Given the description of an element on the screen output the (x, y) to click on. 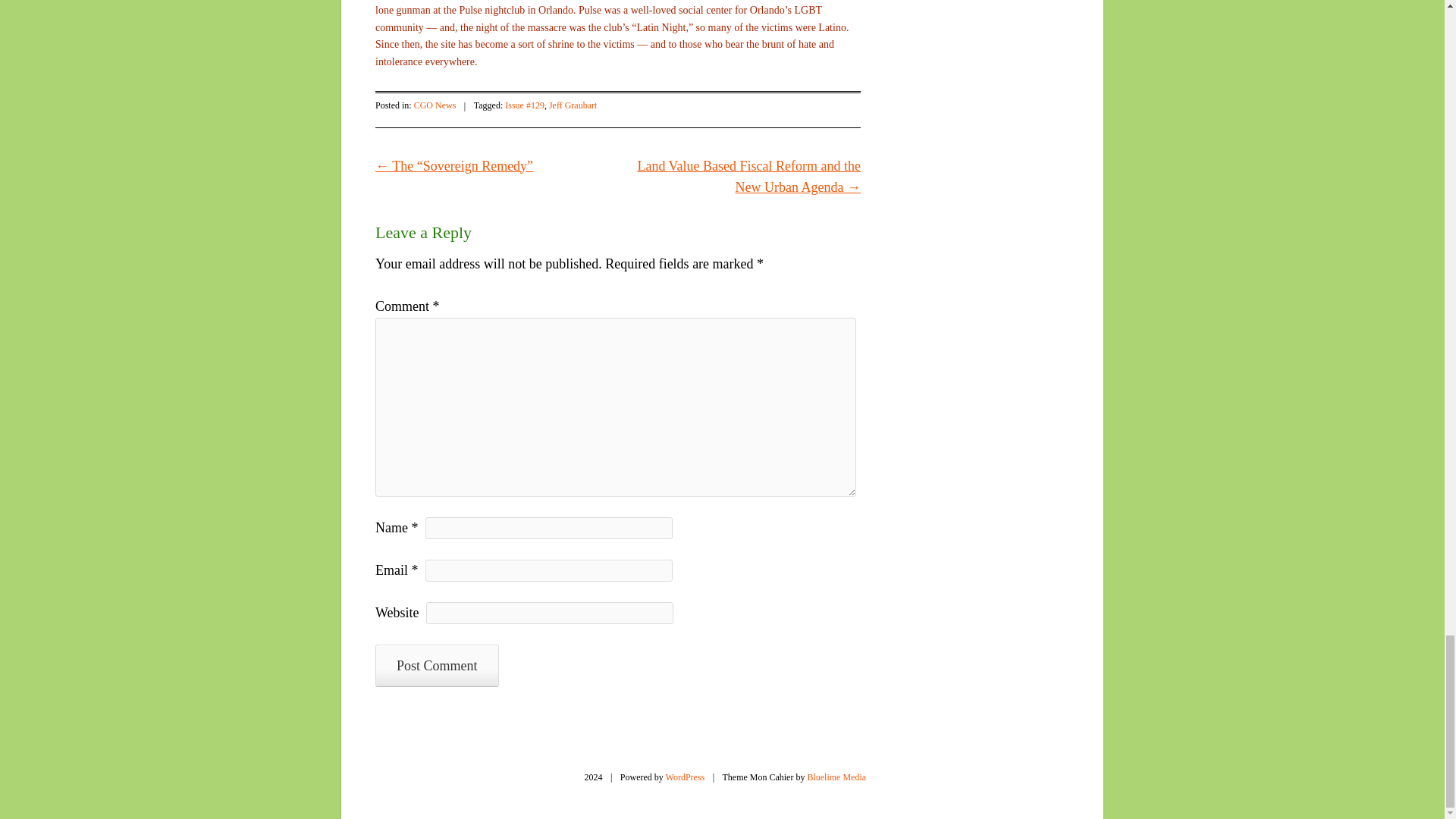
Semantic Personal Publishing Platform (684, 777)
Post Comment (437, 665)
Bluelime Media (836, 777)
Post Comment (437, 665)
CGO News (435, 104)
Jeff Graubart (572, 104)
